Given the description of an element on the screen output the (x, y) to click on. 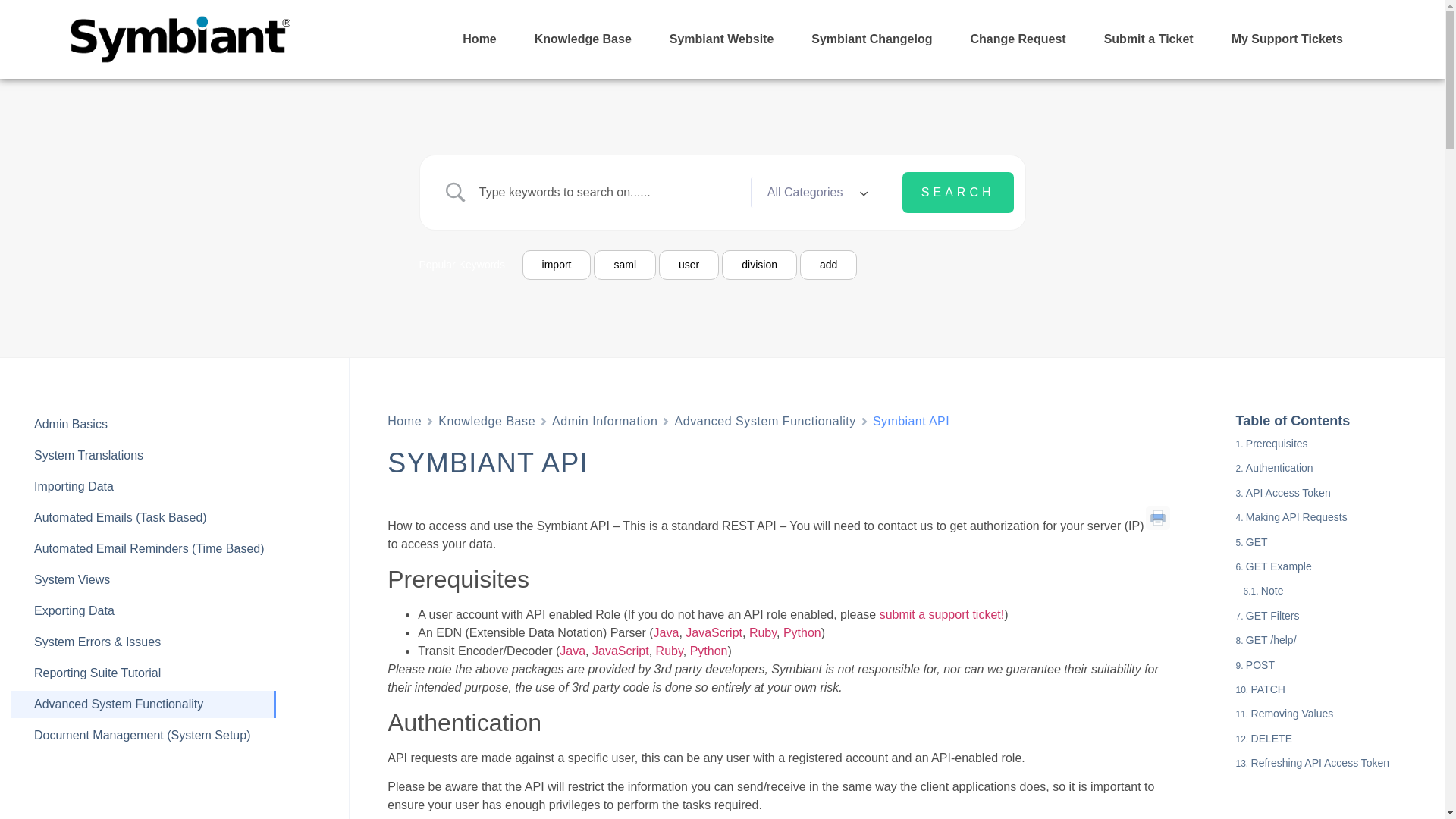
Knowledge Base (582, 39)
Submit a Ticket (1148, 39)
Home (404, 421)
Search (957, 191)
My Support Tickets (1286, 39)
Knowledge Base (486, 421)
Symbiant Website (721, 39)
Home (478, 39)
Change Request (1017, 39)
Search (957, 191)
Advanced System Functionality (765, 421)
Symbiant Changelog (871, 39)
Search (957, 191)
Admin Information (604, 421)
